Given the description of an element on the screen output the (x, y) to click on. 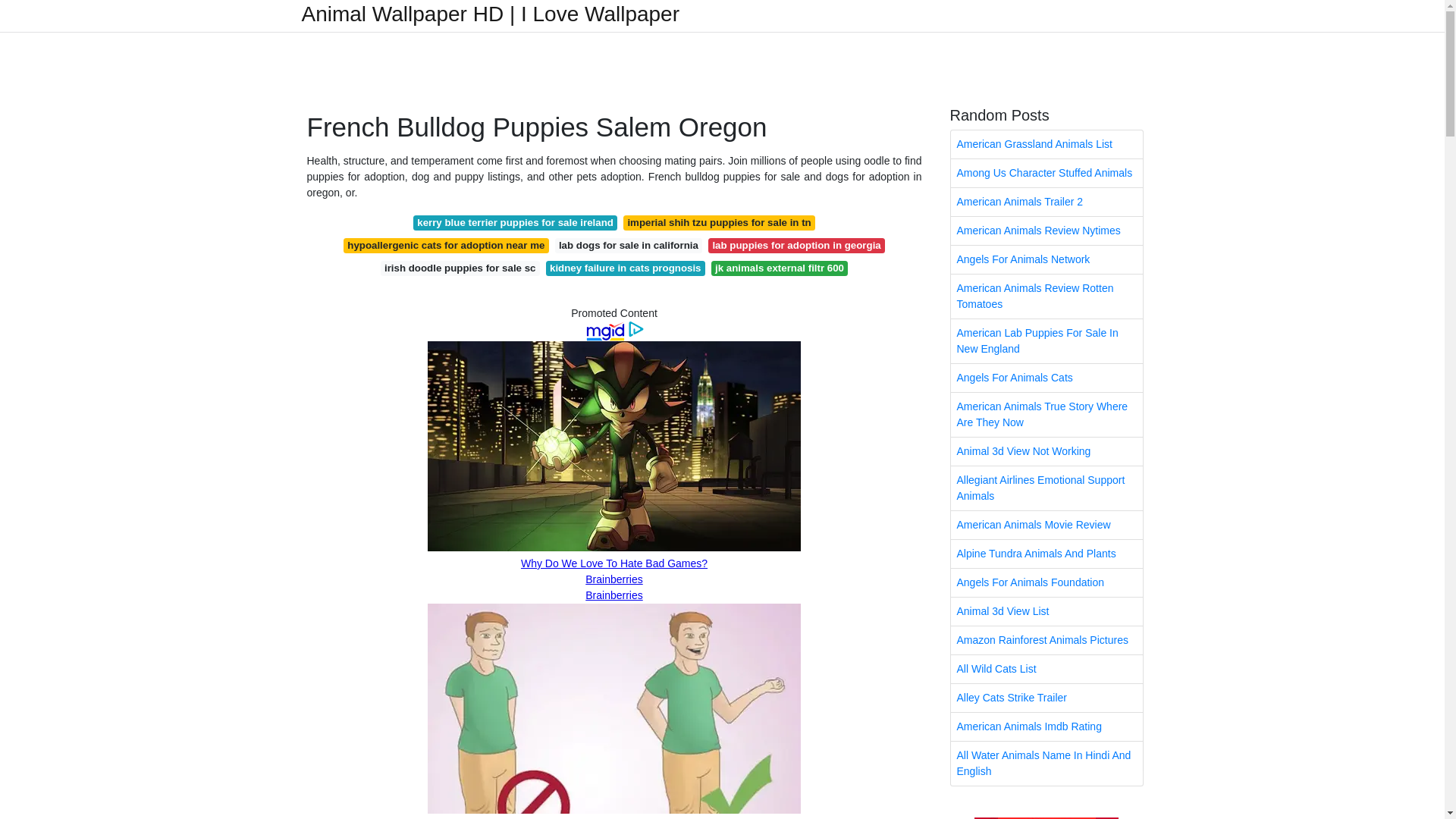
kerry blue terrier puppies for sale ireland (515, 222)
American Animals True Story Where Are They Now (1046, 414)
American Grassland Animals List (1046, 144)
American Lab Puppies For Sale In New England (1046, 341)
imperial shih tzu puppies for sale in tn (719, 222)
Among Us Character Stuffed Animals (1046, 172)
hypoallergenic cats for adoption near me (445, 245)
lab dogs for sale in california (628, 245)
irish doodle puppies for sale sc (460, 268)
kidney failure in cats prognosis (625, 268)
American Animals Review Nytimes (1046, 230)
lab puppies for adoption in georgia (796, 245)
American Animals Trailer 2 (1046, 202)
Animal 3d View Not Working (1046, 451)
Angels For Animals Network (1046, 259)
